Given the description of an element on the screen output the (x, y) to click on. 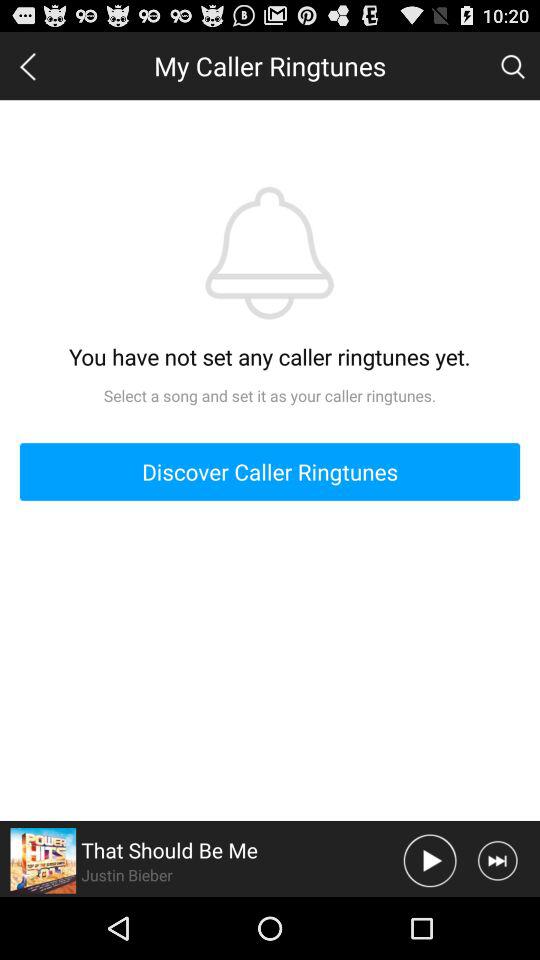
picture of ringtone (43, 860)
